Given the description of an element on the screen output the (x, y) to click on. 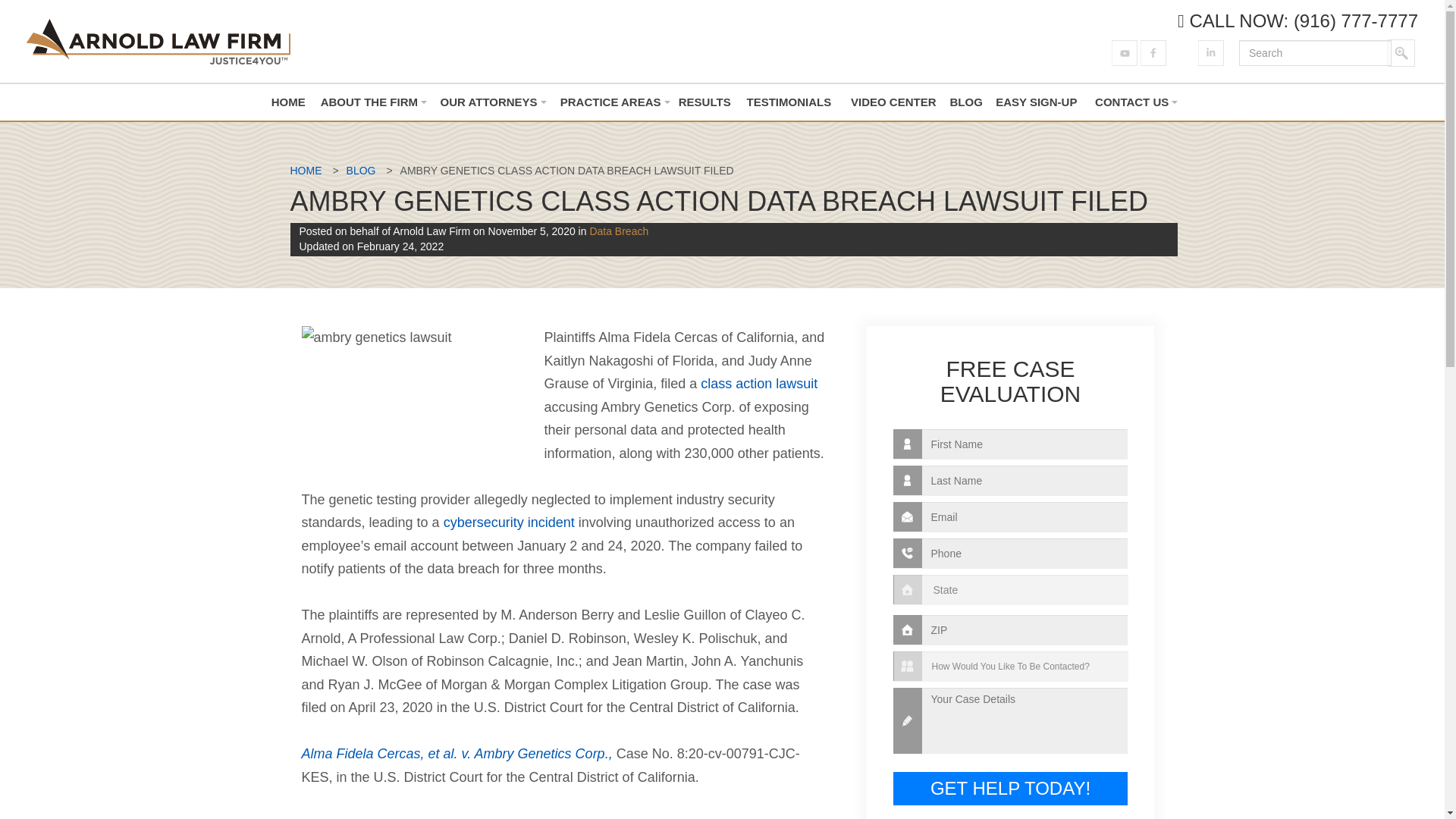
PRACTICE AREAS (609, 102)
OUR ATTORNEYS (488, 102)
icon-facebook (1153, 47)
icon-youtube (1124, 53)
HOME (287, 102)
icon-linkedin (1211, 53)
icon-youtube (1124, 47)
icon-linkedin (1211, 47)
icon-facebook (1153, 53)
ABOUT THE FIRM (368, 102)
